Given the description of an element on the screen output the (x, y) to click on. 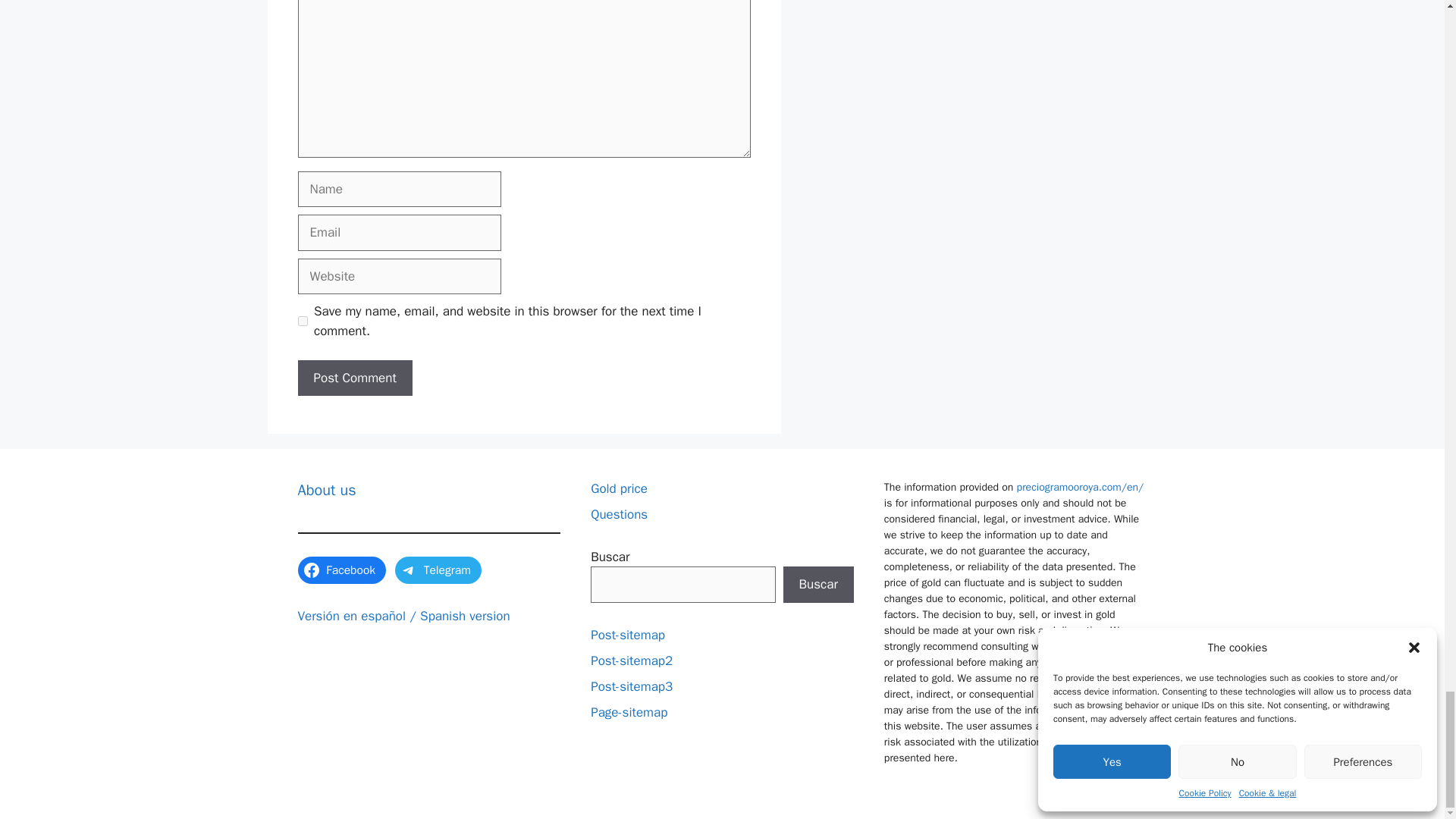
Post Comment (354, 378)
Post Comment (354, 378)
yes (302, 320)
